Given the description of an element on the screen output the (x, y) to click on. 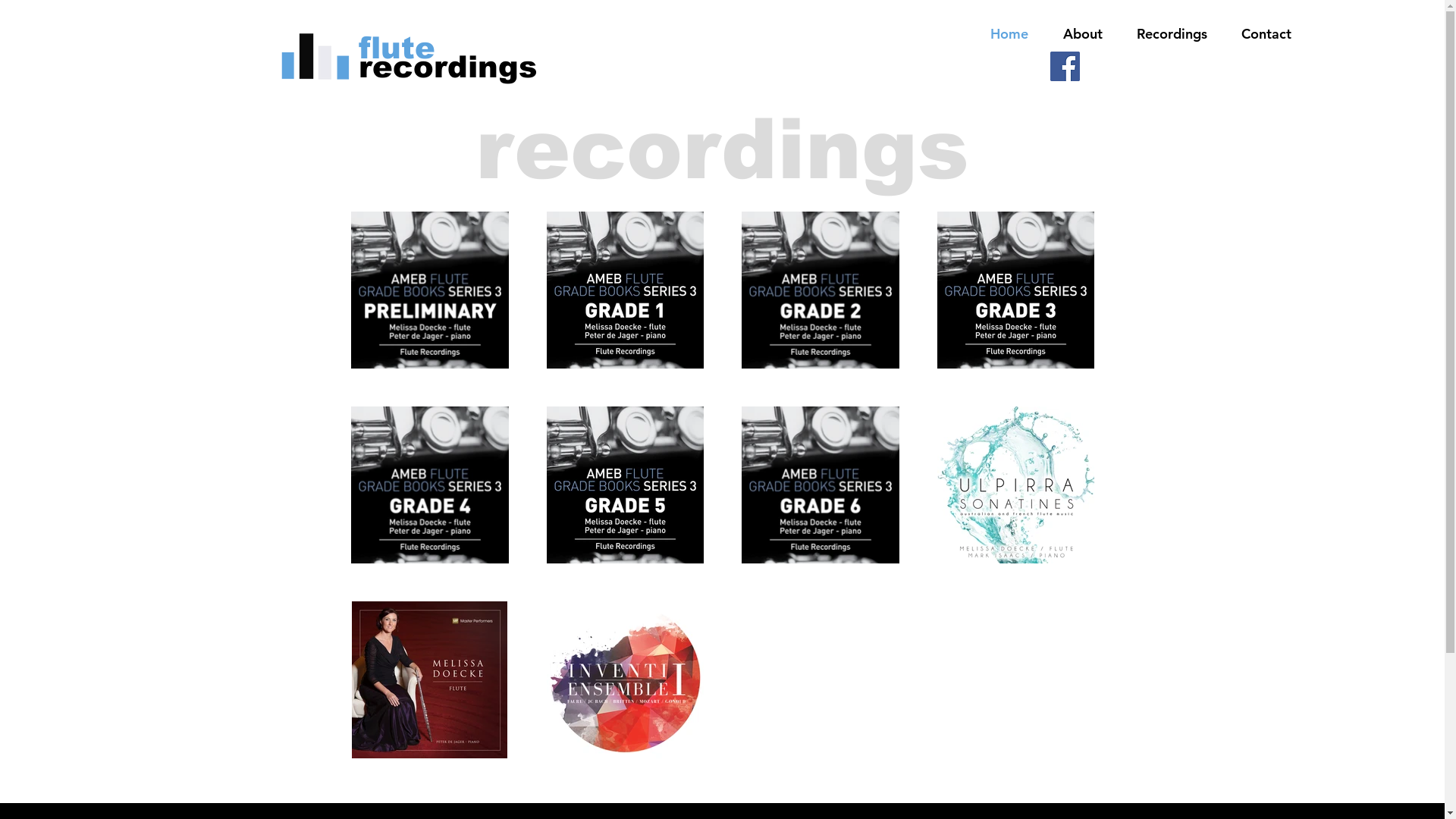
recordings Element type: text (449, 66)
Contact Element type: text (1265, 34)
Home Element type: text (1008, 34)
About Element type: text (1082, 34)
flute Element type: text (412, 47)
